Given the description of an element on the screen output the (x, y) to click on. 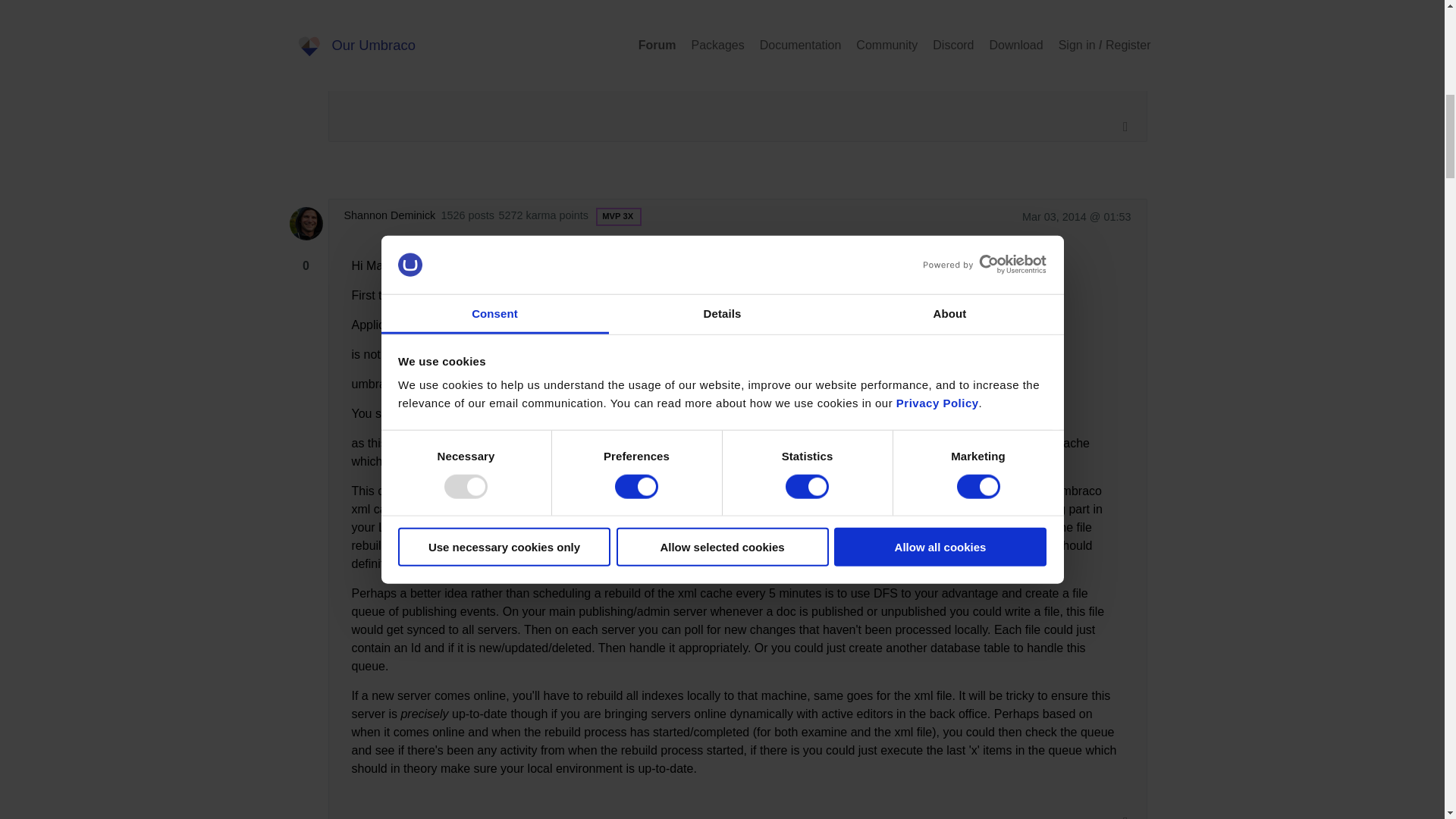
Post my reply (335, 787)
